Given the description of an element on the screen output the (x, y) to click on. 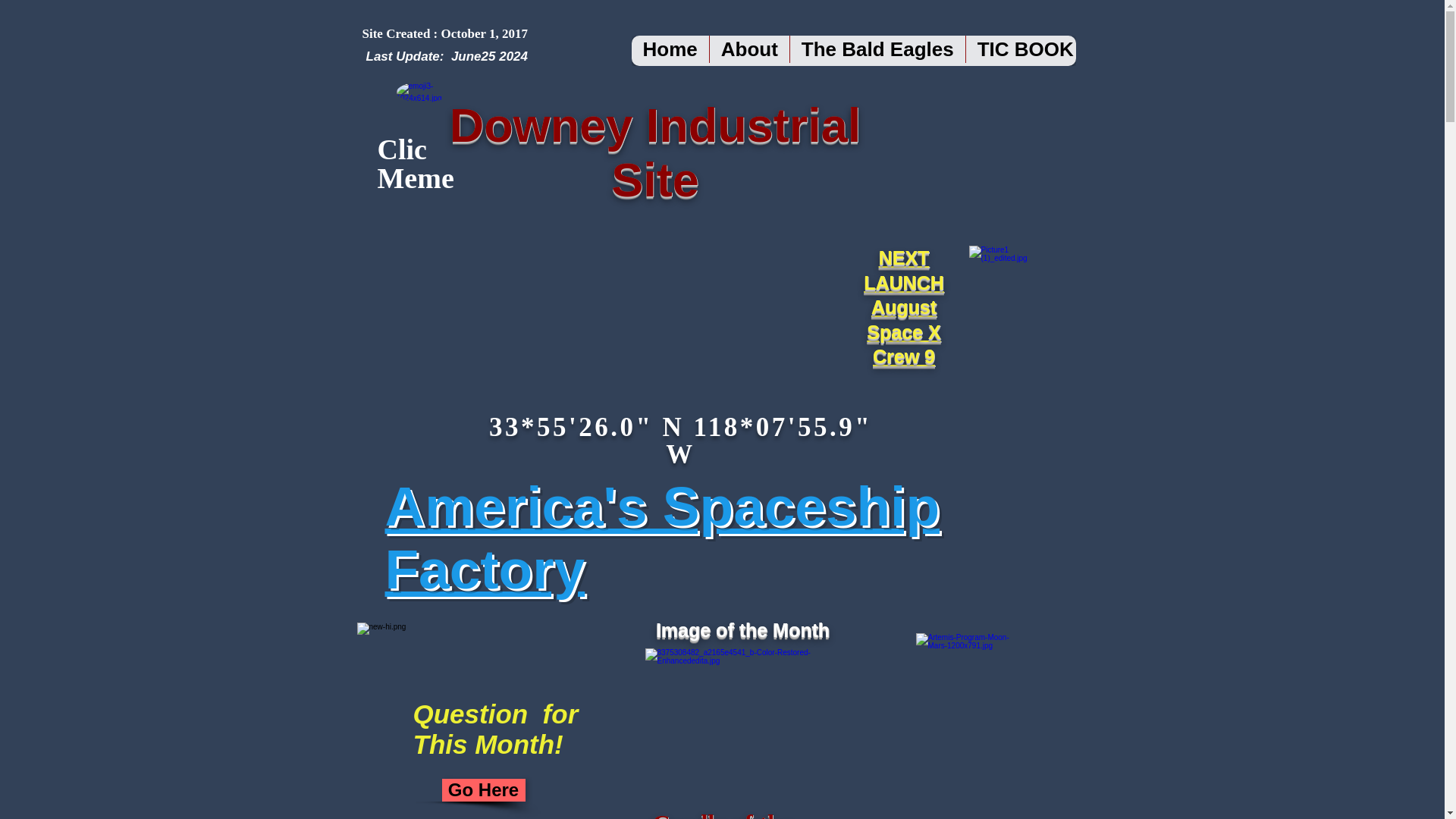
The Bald Eagles (877, 51)
About (749, 51)
TIC BOOK CLUB (1055, 51)
Home (668, 51)
